Given the description of an element on the screen output the (x, y) to click on. 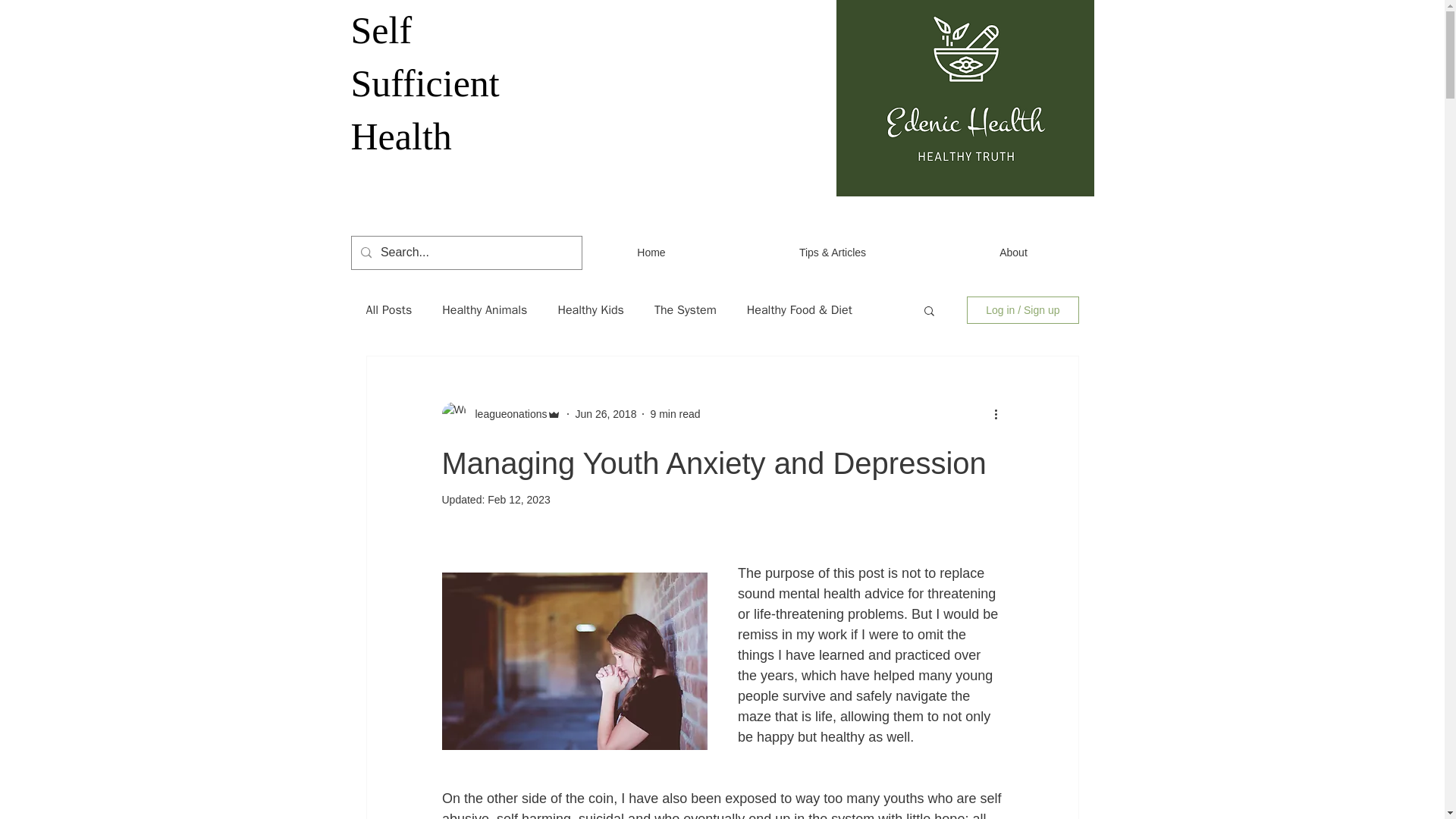
Healthy Kids (590, 309)
The System (684, 309)
9 min read (674, 413)
Feb 12, 2023 (518, 499)
Jun 26, 2018 (605, 413)
leagueonations (506, 414)
All Posts (388, 309)
Healthy Animals (484, 309)
Home (651, 252)
About (1013, 252)
